Given the description of an element on the screen output the (x, y) to click on. 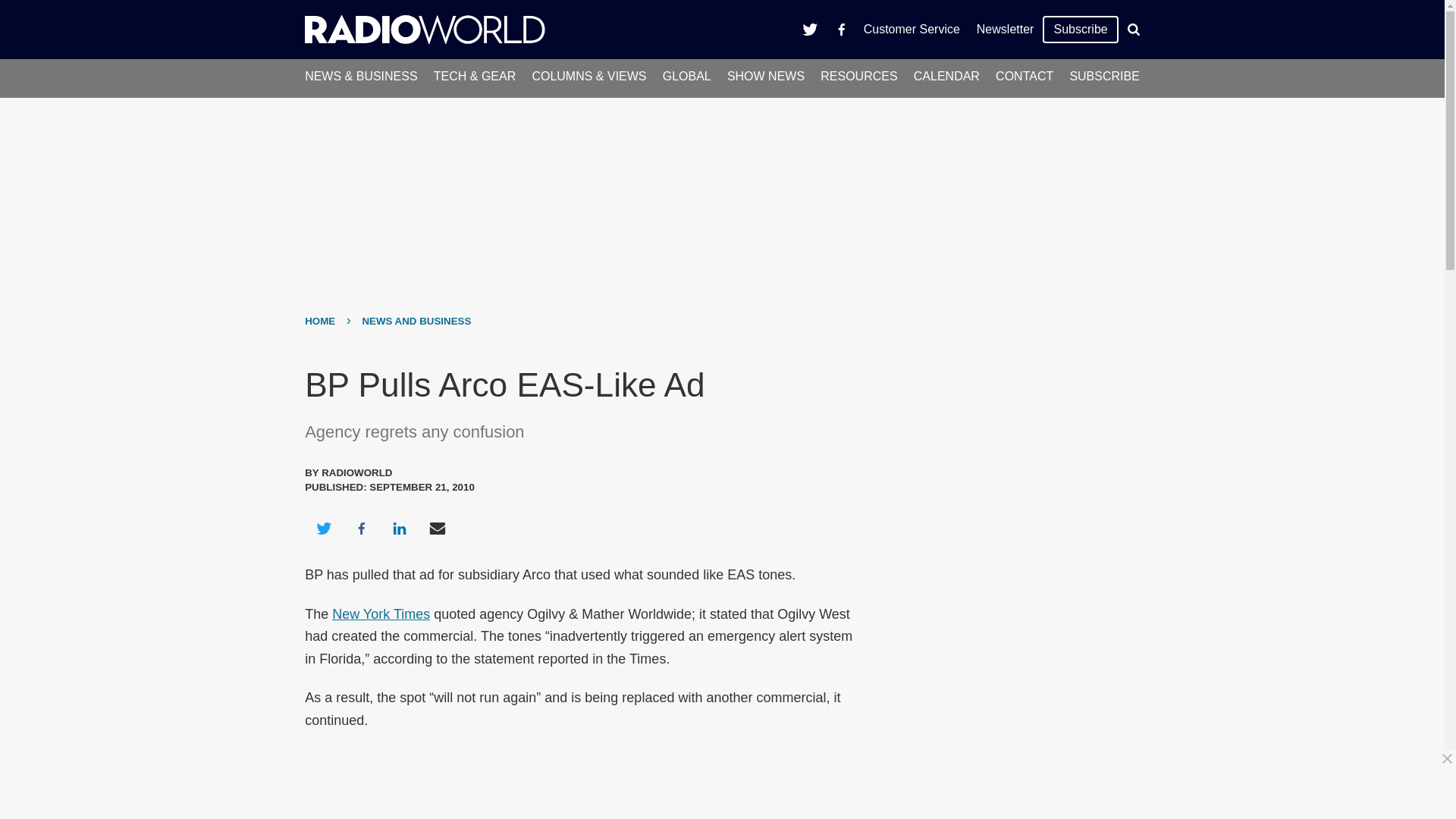
Customer Service (912, 29)
Share via Email (438, 528)
Share on Twitter (323, 528)
Share on Facebook (361, 528)
Advertisement (1005, 461)
Newsletter (1005, 29)
Advertisement (727, 785)
Share on LinkedIn (399, 528)
